Given the description of an element on the screen output the (x, y) to click on. 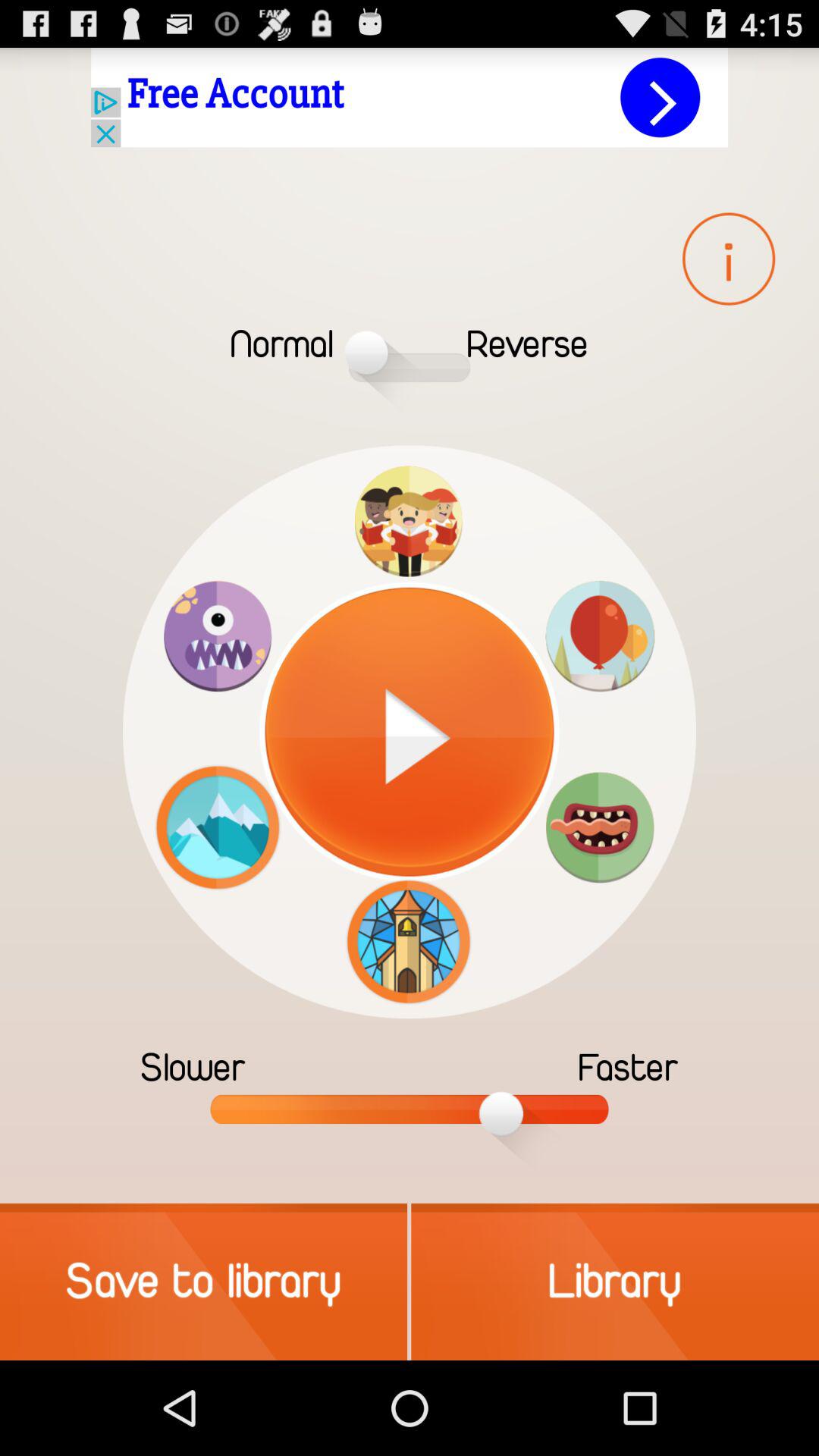
click on play button (409, 731)
click on the center image (409, 731)
select the logo below play button (408, 941)
select the logo on top of play button (408, 521)
select the symbol which is above reverse (728, 258)
click on the slide bar which is in between normal and reverse (409, 351)
